Given the description of an element on the screen output the (x, y) to click on. 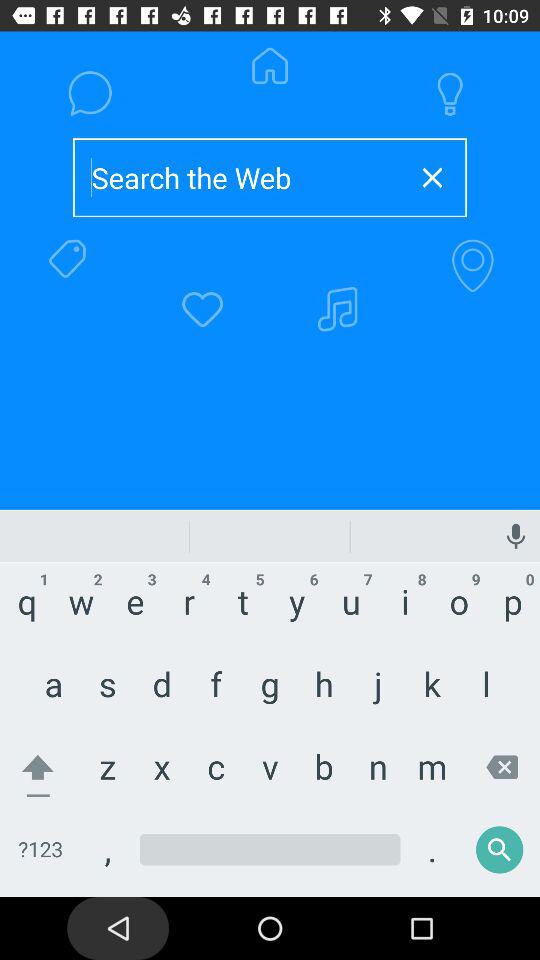
go to search (238, 177)
